Given the description of an element on the screen output the (x, y) to click on. 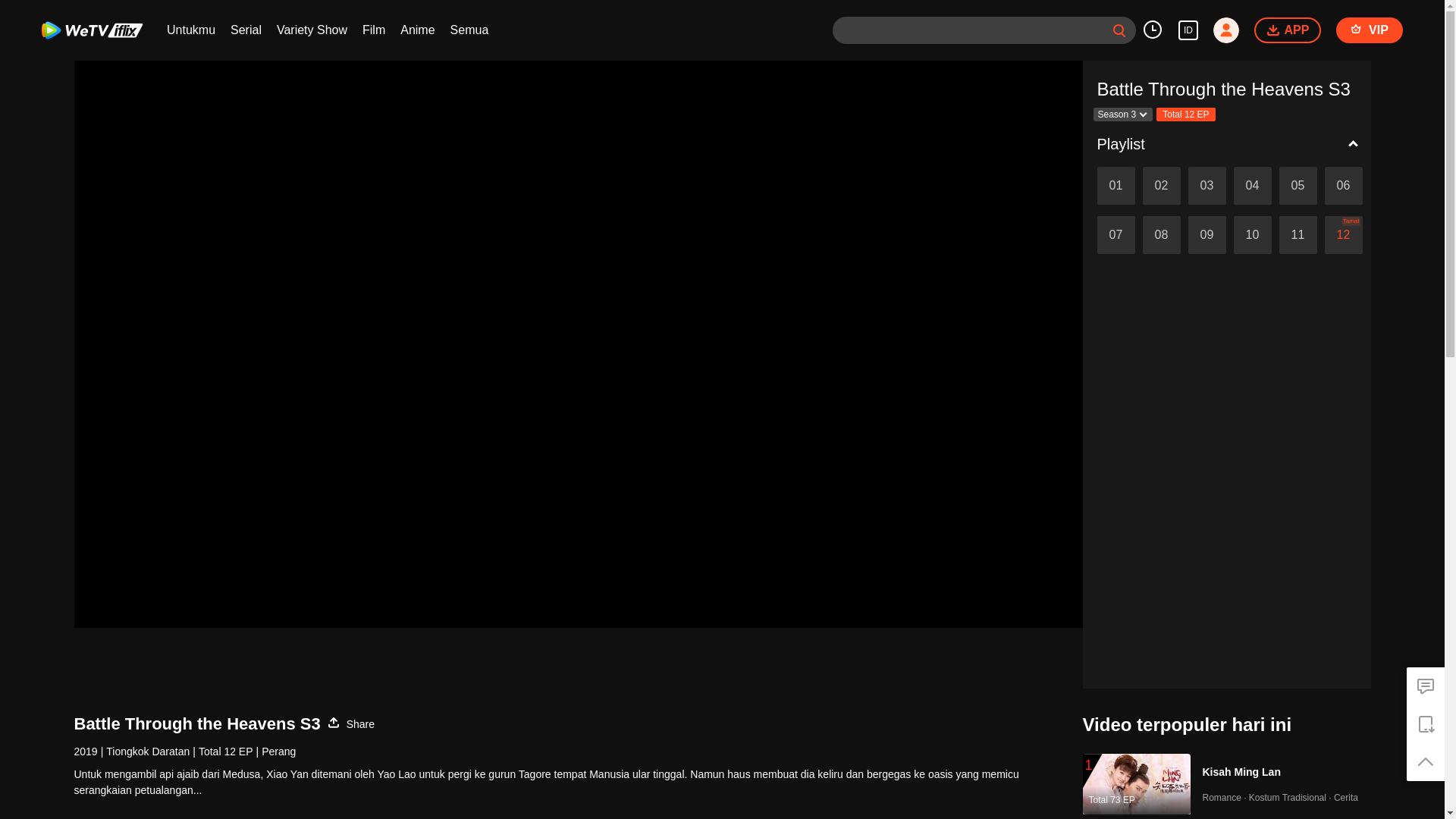
VIP (1369, 30)
Variety Show (311, 30)
Untukmu (191, 30)
Anime (416, 30)
